Given the description of an element on the screen output the (x, y) to click on. 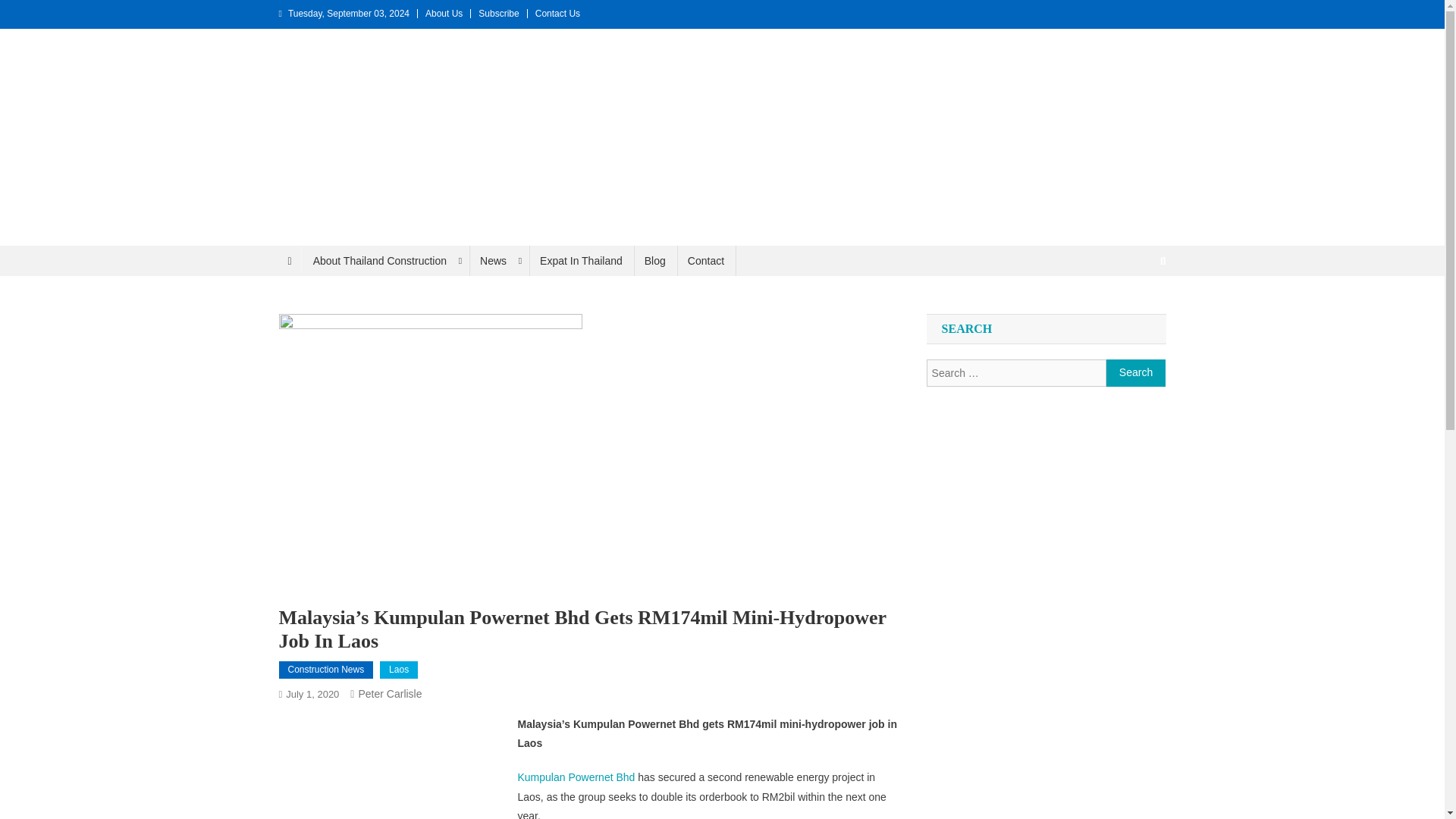
Contact (705, 260)
Contact Us (557, 13)
Construction News (326, 669)
News (498, 260)
About Us (444, 13)
Thailand Construction and Engineering News (262, 260)
Search (1136, 372)
Kumpulan Powernet Bhd (575, 776)
Laos (398, 669)
Peter Carlisle (390, 693)
